Given the description of an element on the screen output the (x, y) to click on. 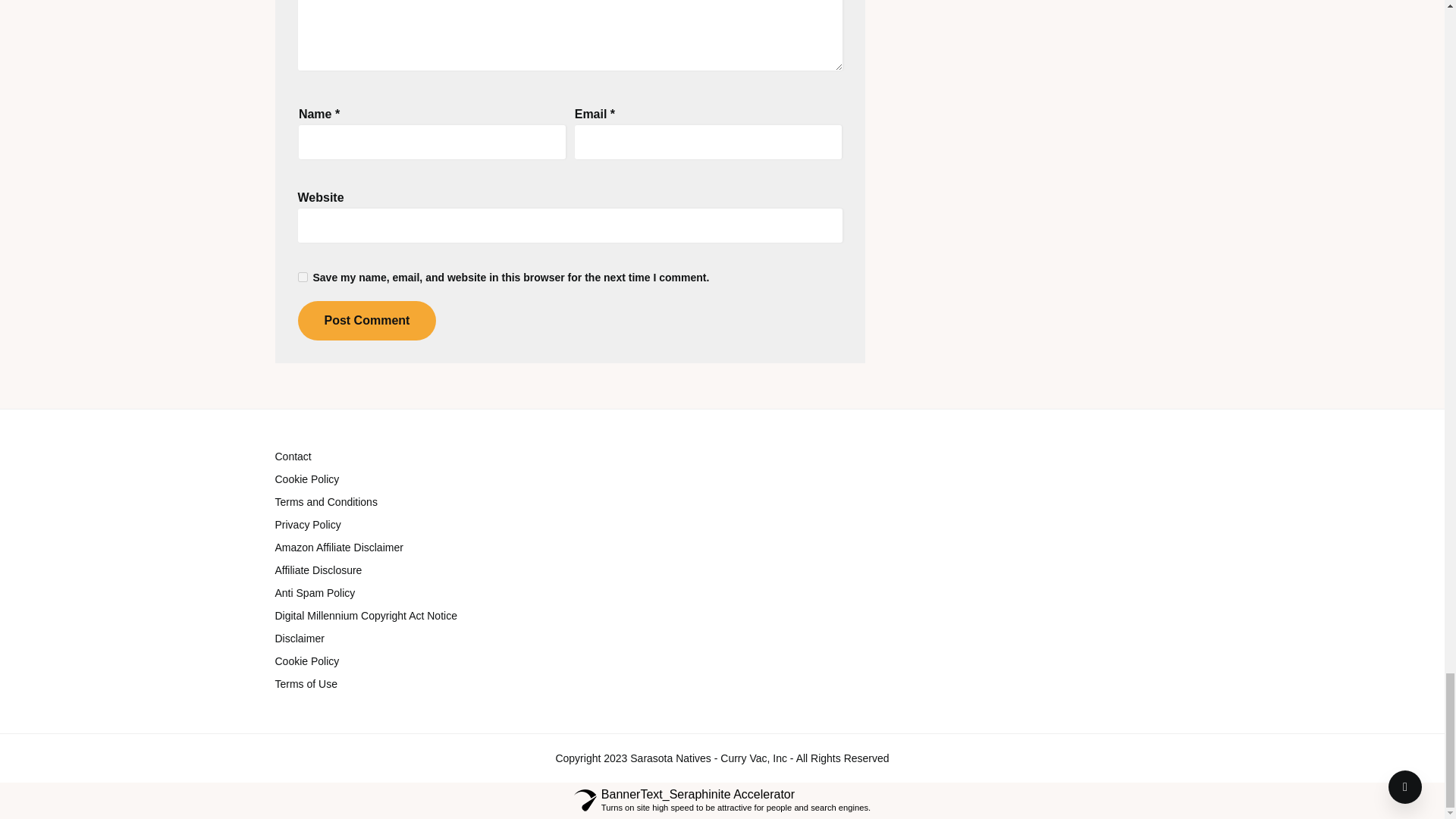
Post Comment (366, 320)
yes (302, 276)
